Given the description of an element on the screen output the (x, y) to click on. 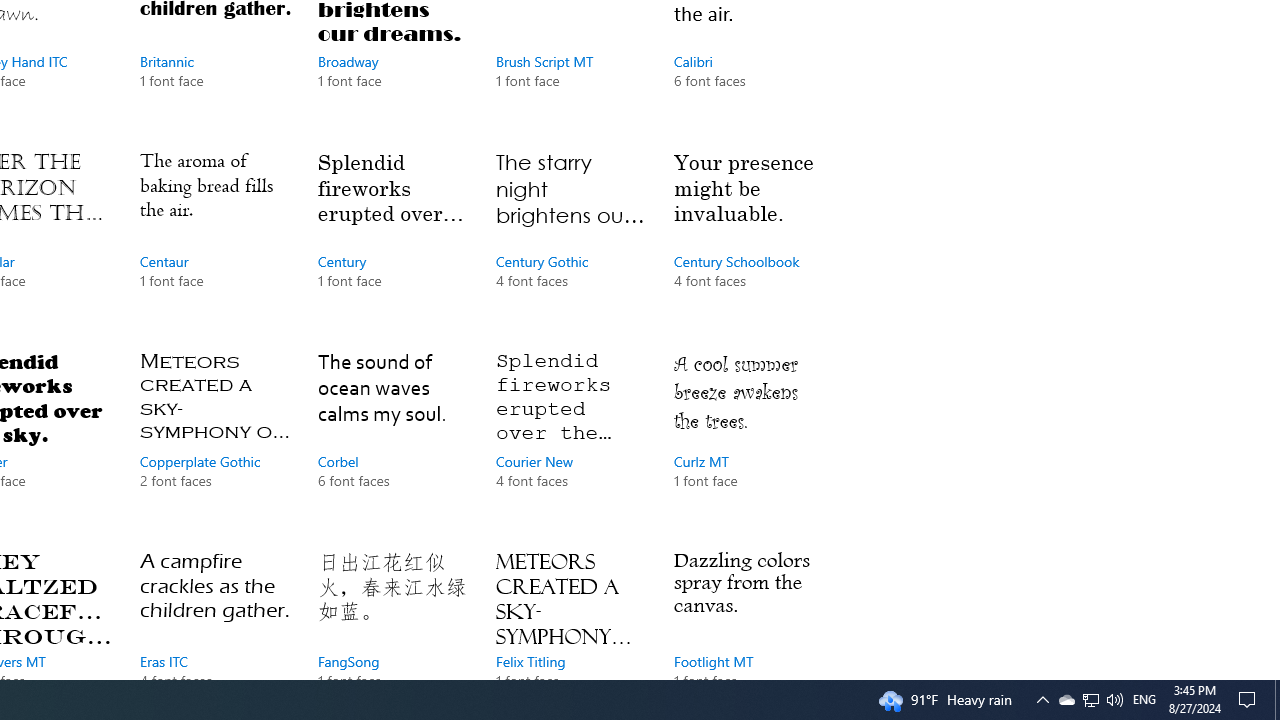
Eras ITC, 4 font faces (214, 609)
Tray Input Indicator - English (United States) (1144, 699)
Corbel, 6 font faces (392, 439)
FangSong, 1 font face (392, 609)
Century Schoolbook, 4 font faces (748, 239)
Century, 1 font face (392, 239)
Courier New, 4 font faces (570, 439)
Centaur, 1 font face (214, 239)
